Given the description of an element on the screen output the (x, y) to click on. 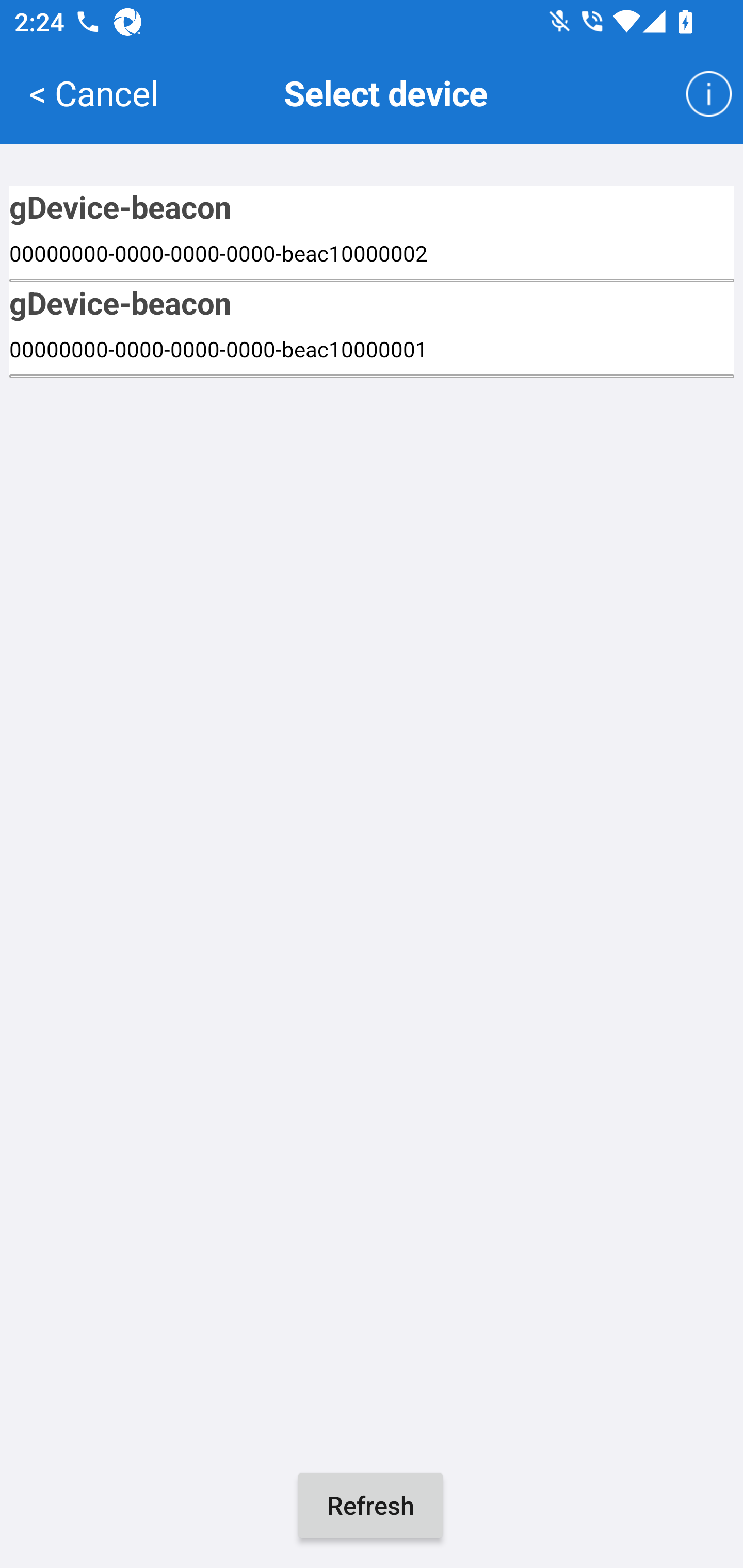
< Cancel (93, 92)
Refresh (370, 1505)
